Given the description of an element on the screen output the (x, y) to click on. 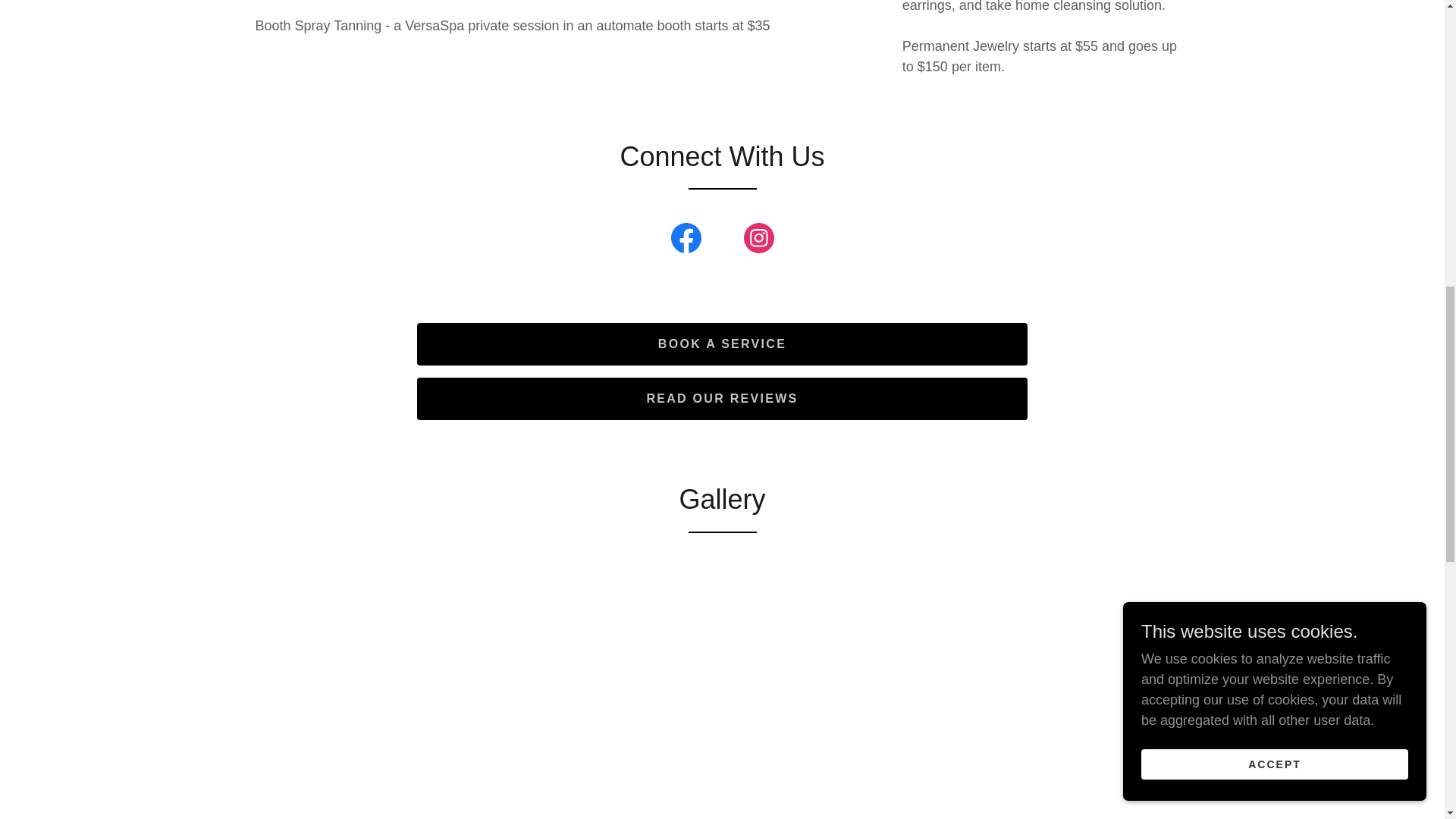
READ OUR REVIEWS (721, 398)
BOOK A SERVICE (721, 343)
